Given the description of an element on the screen output the (x, y) to click on. 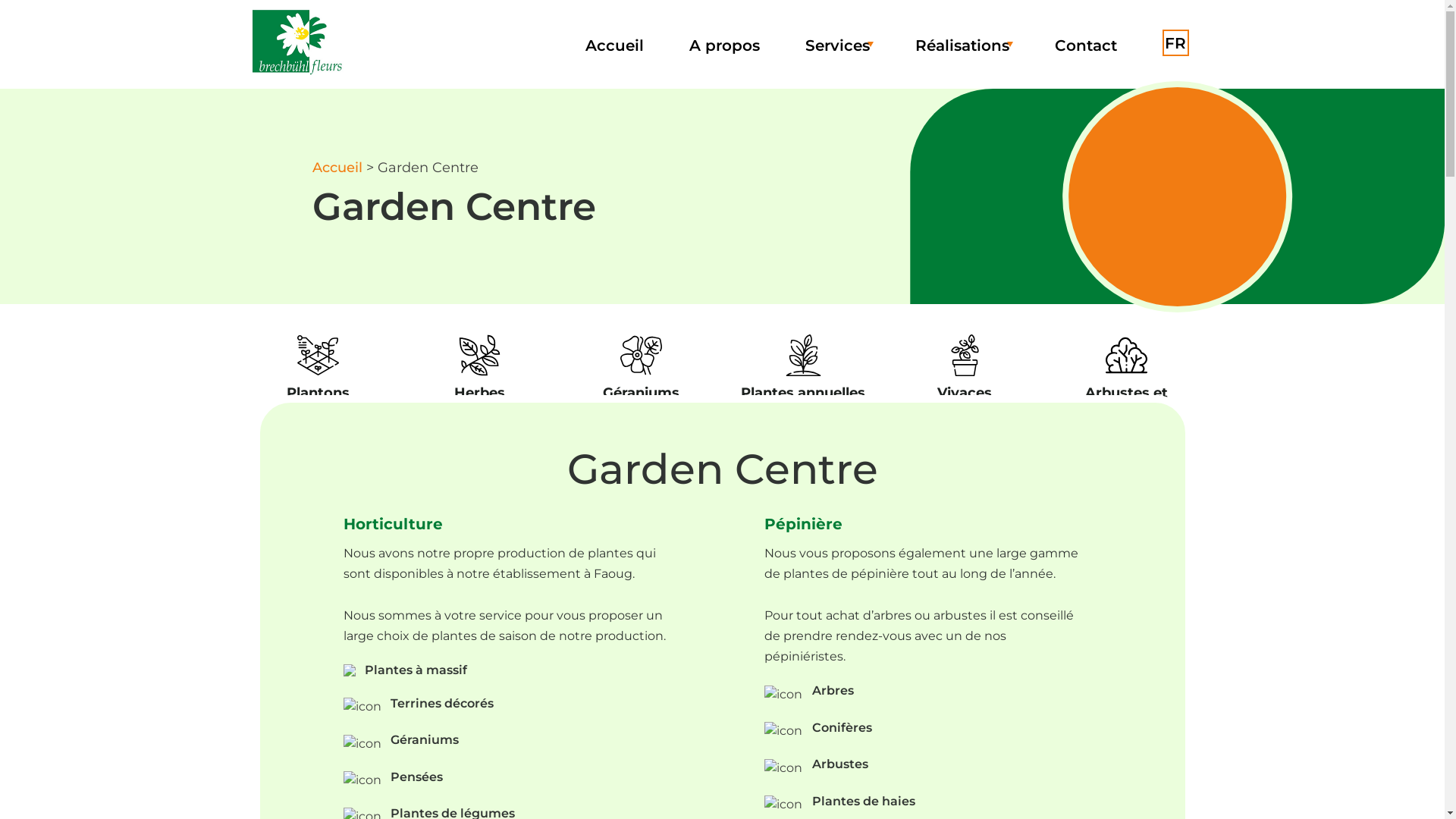
FR Element type: text (1174, 42)
Services Element type: text (837, 45)
Accueil Element type: text (337, 167)
Accueil Element type: text (614, 45)
Contact Element type: text (1085, 45)
A propos Element type: text (723, 45)
